Given the description of an element on the screen output the (x, y) to click on. 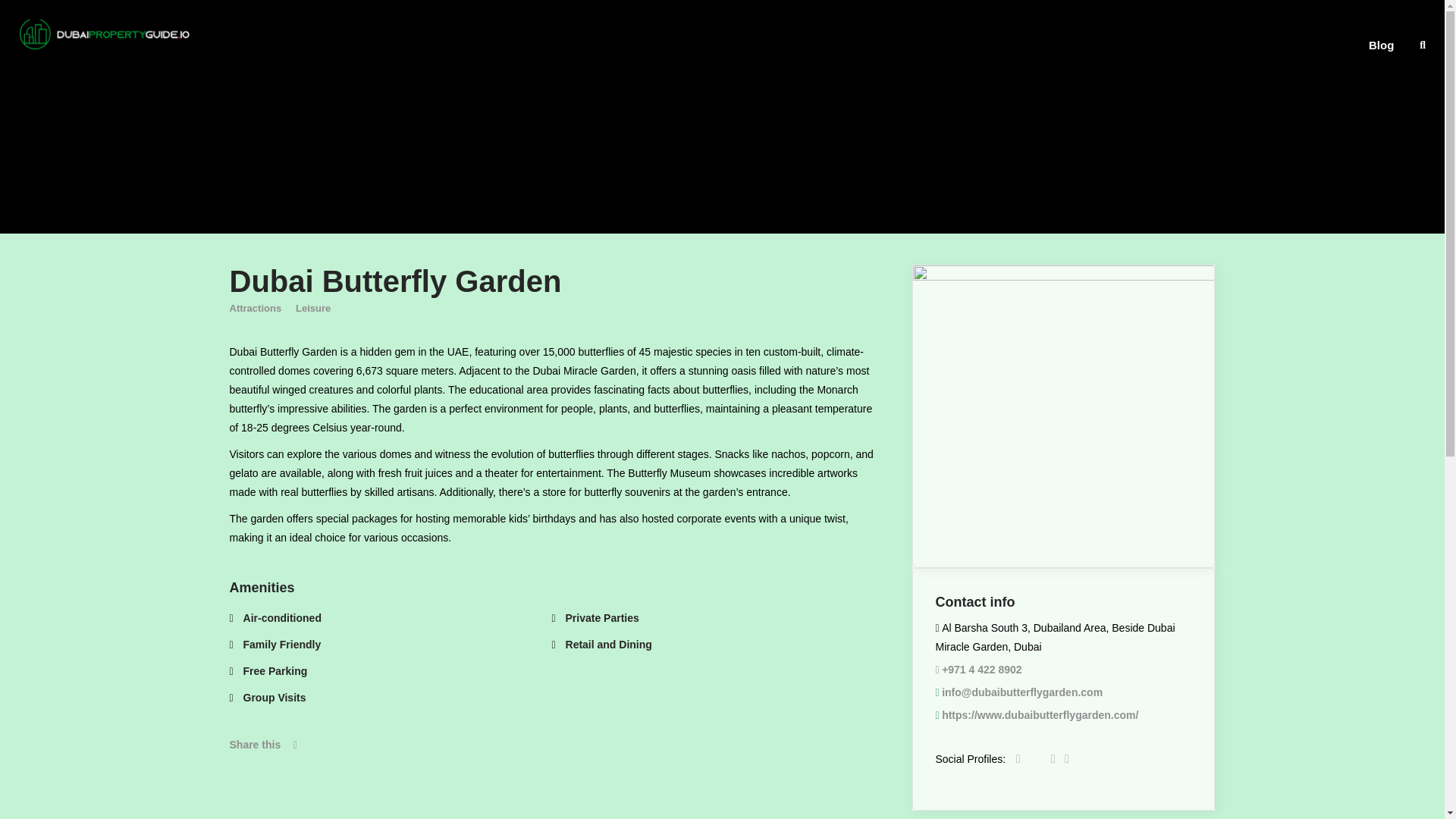
Leisure (312, 308)
Free Parking (267, 670)
Share this (262, 744)
Private Parties (595, 618)
Attractions (254, 308)
Retail and Dining (601, 644)
Family Friendly (274, 644)
Group Visits (266, 697)
Air-conditioned (274, 618)
